Given the description of an element on the screen output the (x, y) to click on. 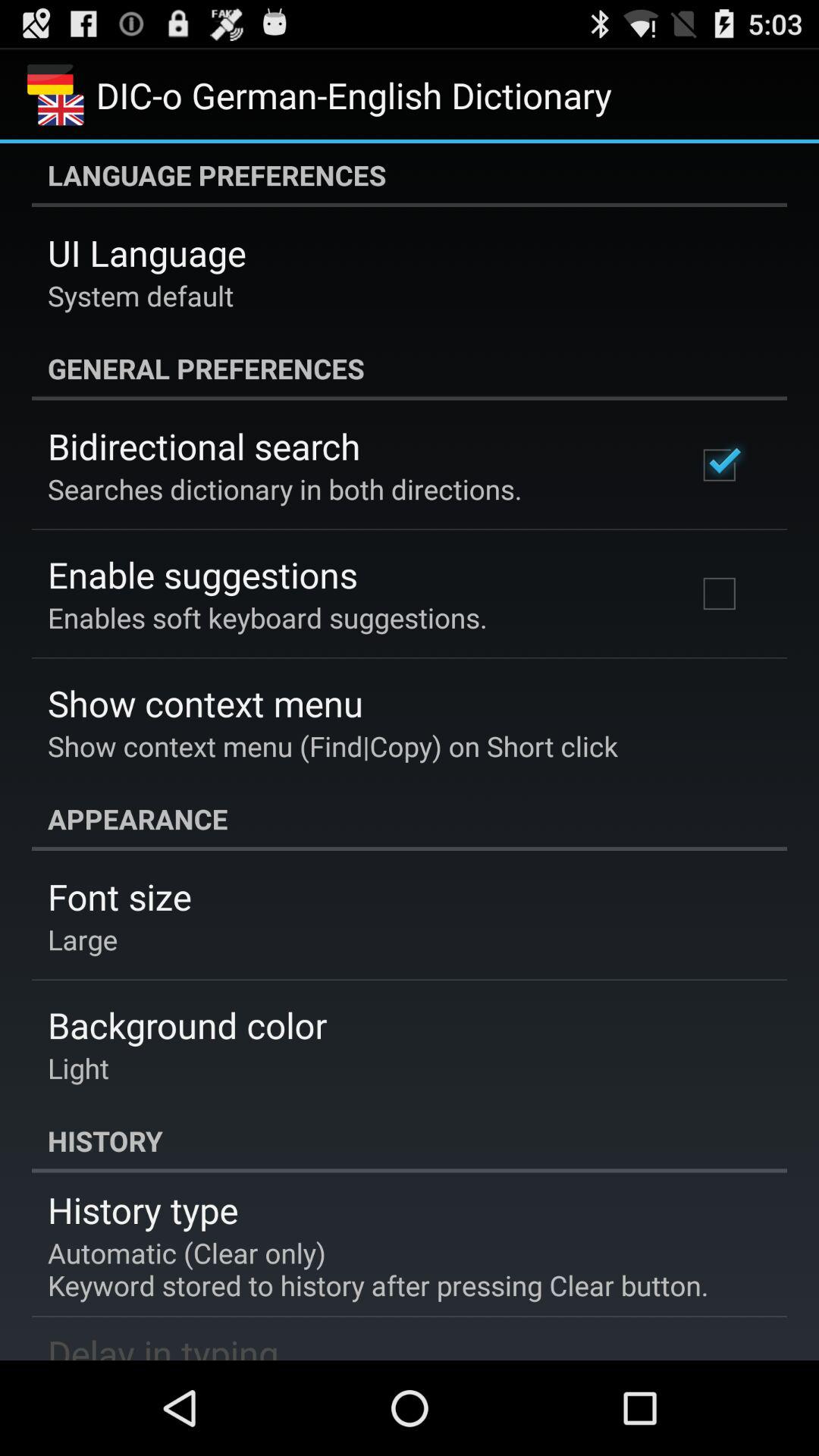
open the enable suggestions icon (202, 574)
